Given the description of an element on the screen output the (x, y) to click on. 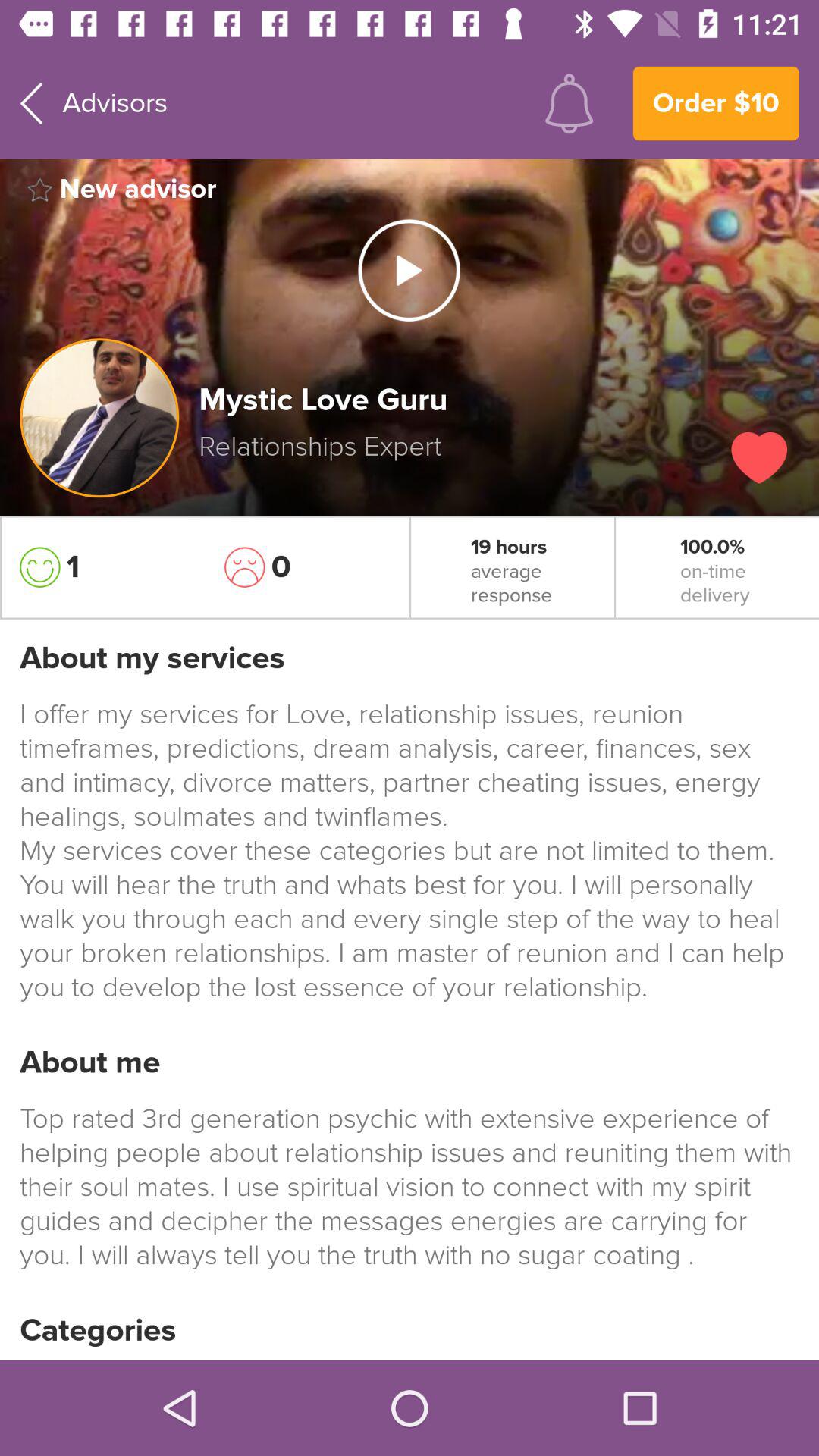
switch to the video (409, 270)
